Given the description of an element on the screen output the (x, y) to click on. 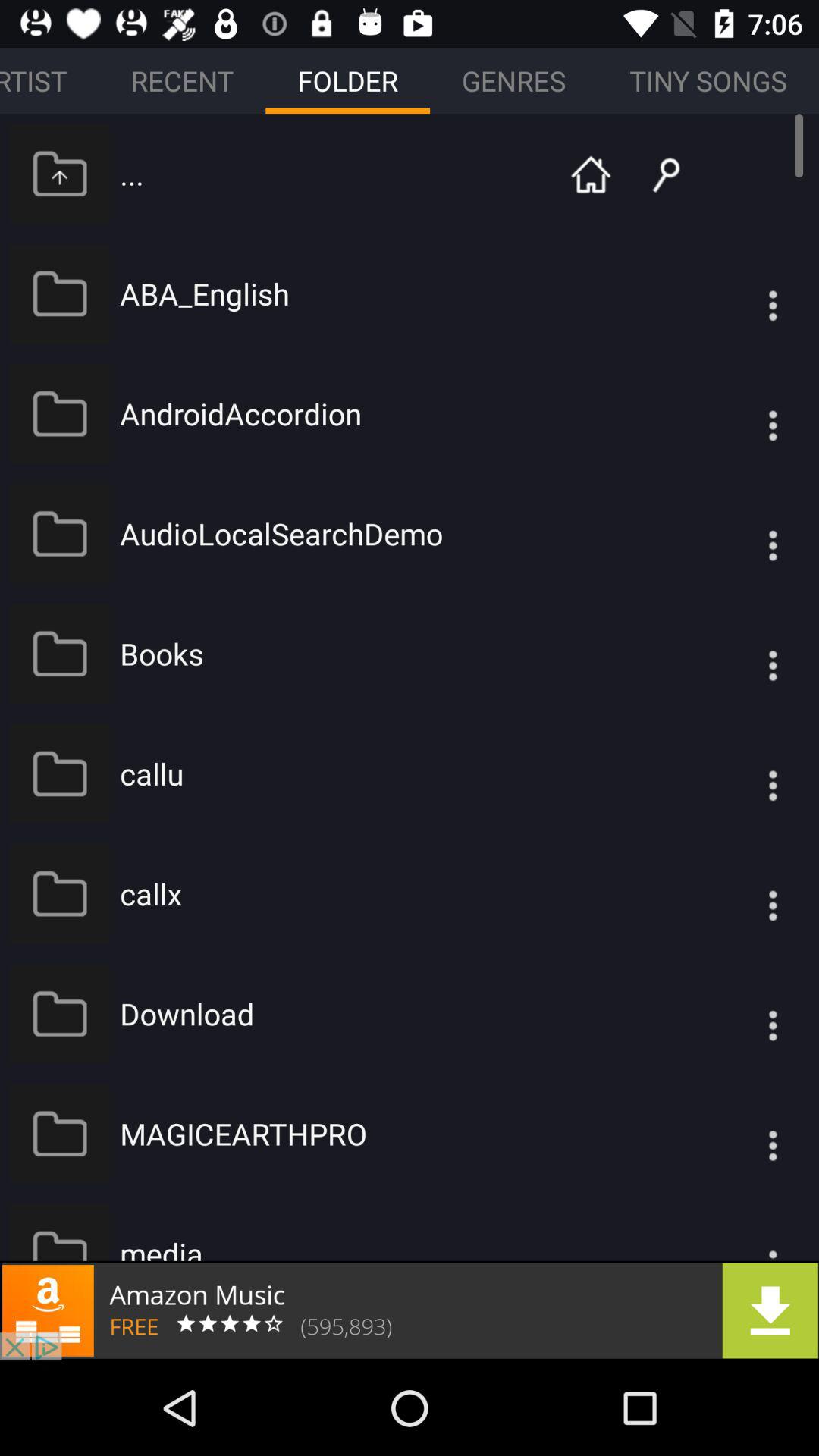
more options (742, 893)
